Given the description of an element on the screen output the (x, y) to click on. 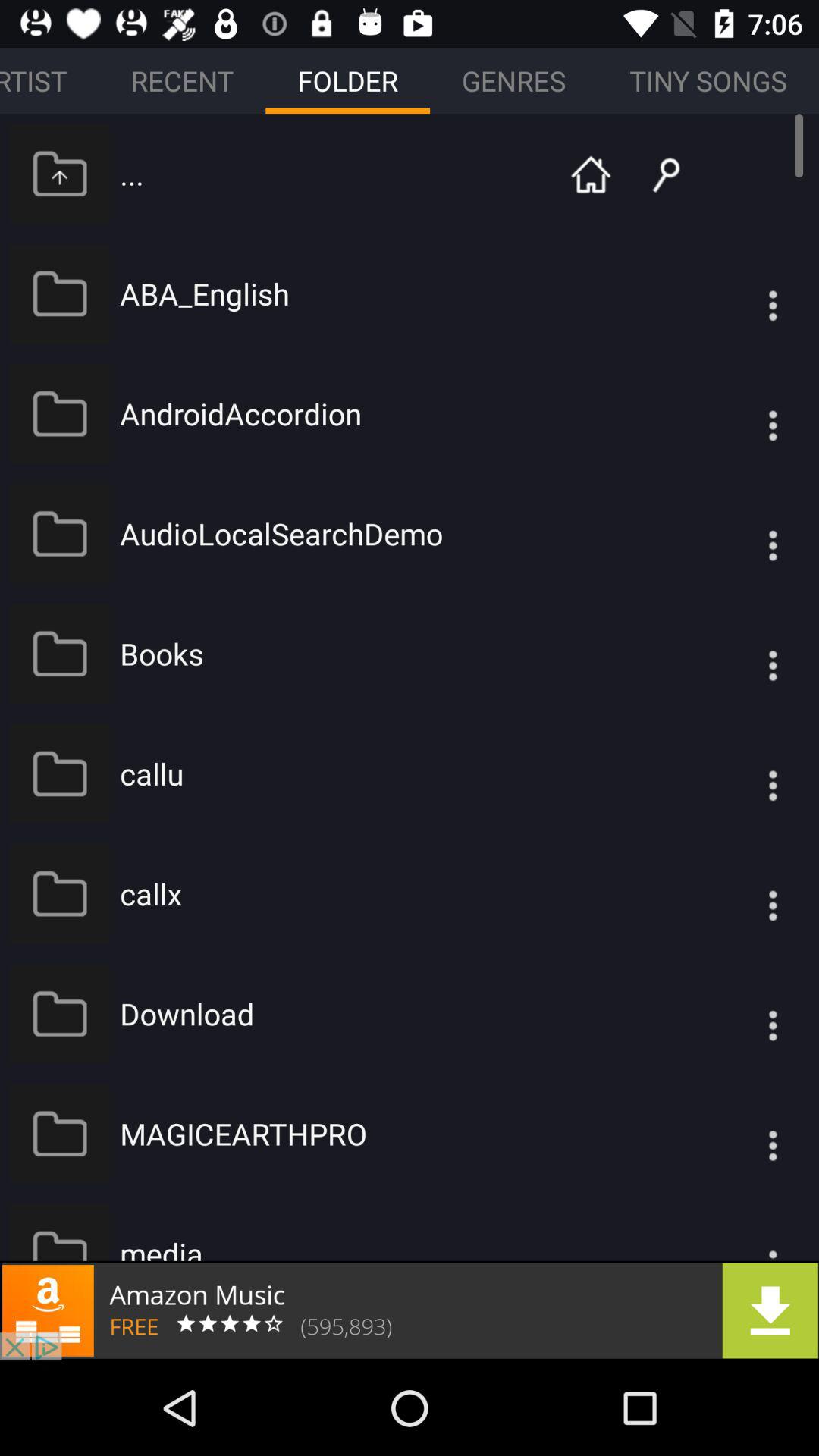
more options (742, 893)
